Given the description of an element on the screen output the (x, y) to click on. 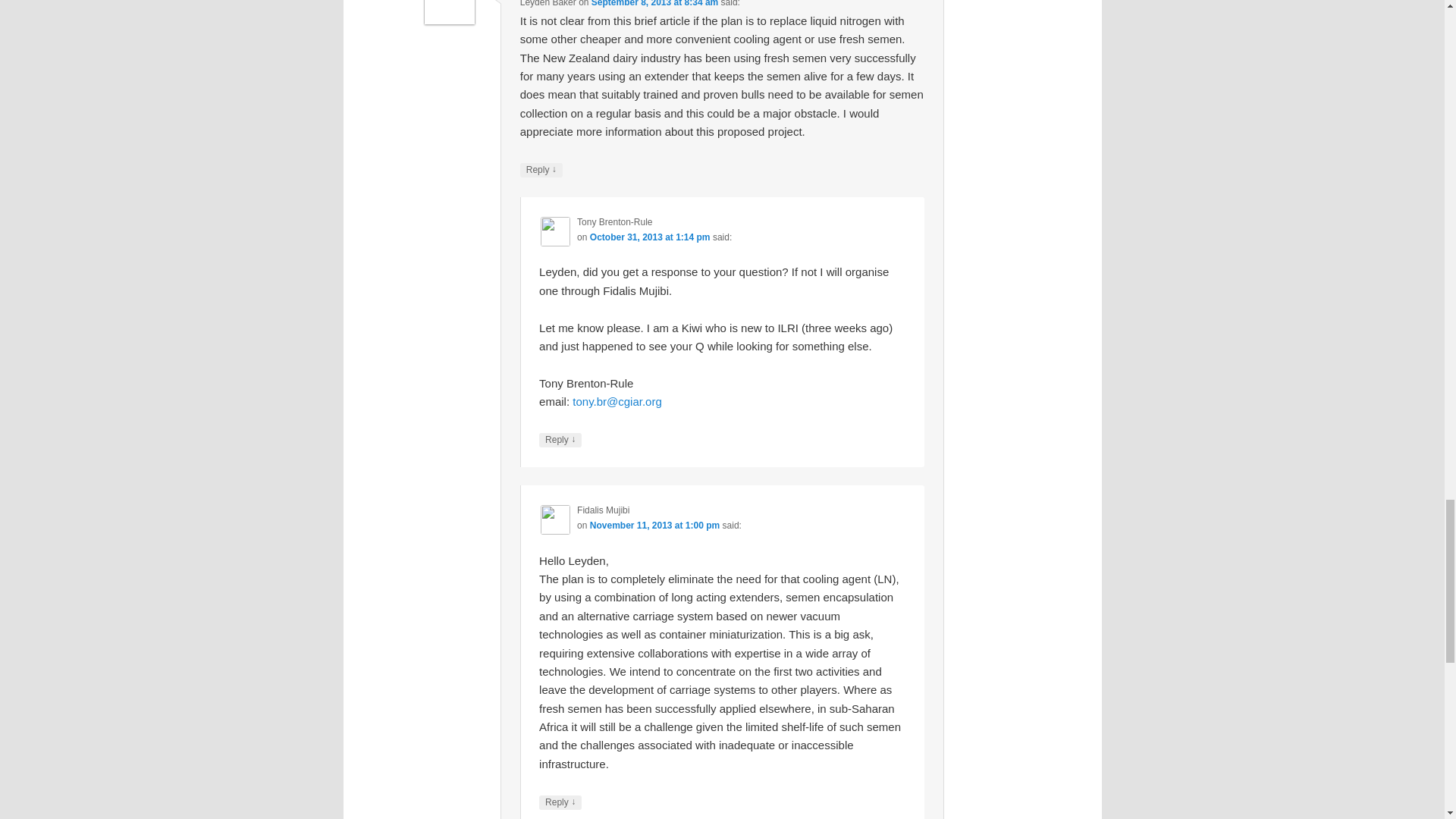
October 31, 2013 at 1:14 pm (649, 236)
September 8, 2013 at 8:34 am (654, 3)
